Given the description of an element on the screen output the (x, y) to click on. 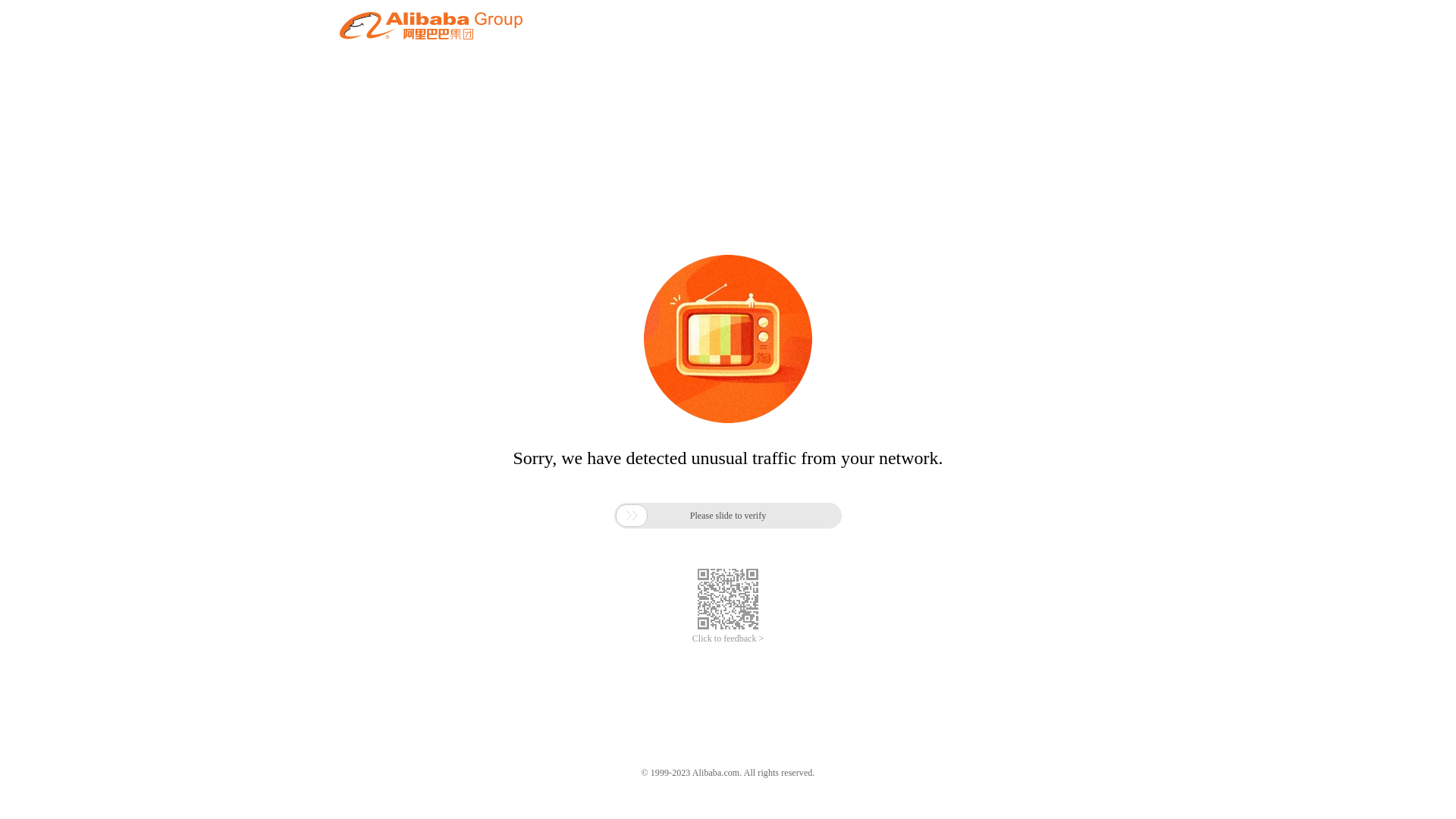
Click to feedback > Element type: text (727, 638)
